Given the description of an element on the screen output the (x, y) to click on. 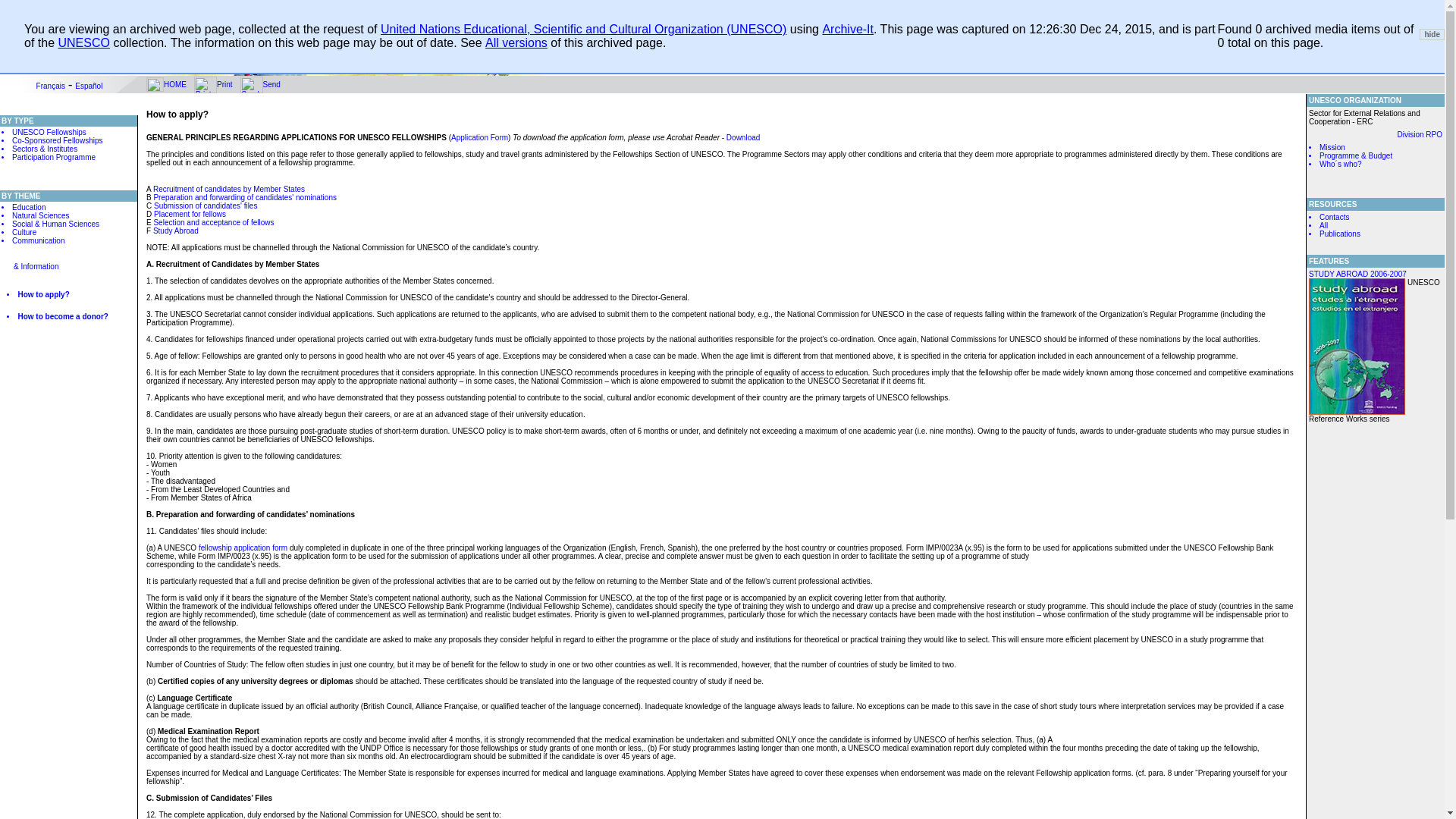
Preparation and forwarding of candidates' nominations (244, 197)
Communication (68, 246)
Culture (68, 232)
Natural Sciences (68, 215)
The Organization (93, 7)
Send (272, 84)
How to apply? (68, 300)
Education (147, 7)
Education (68, 207)
Application Form (479, 137)
Natural Sciences (201, 7)
All versions (515, 42)
Placement for fellows (189, 213)
Print (224, 84)
HOME (174, 84)
